Given the description of an element on the screen output the (x, y) to click on. 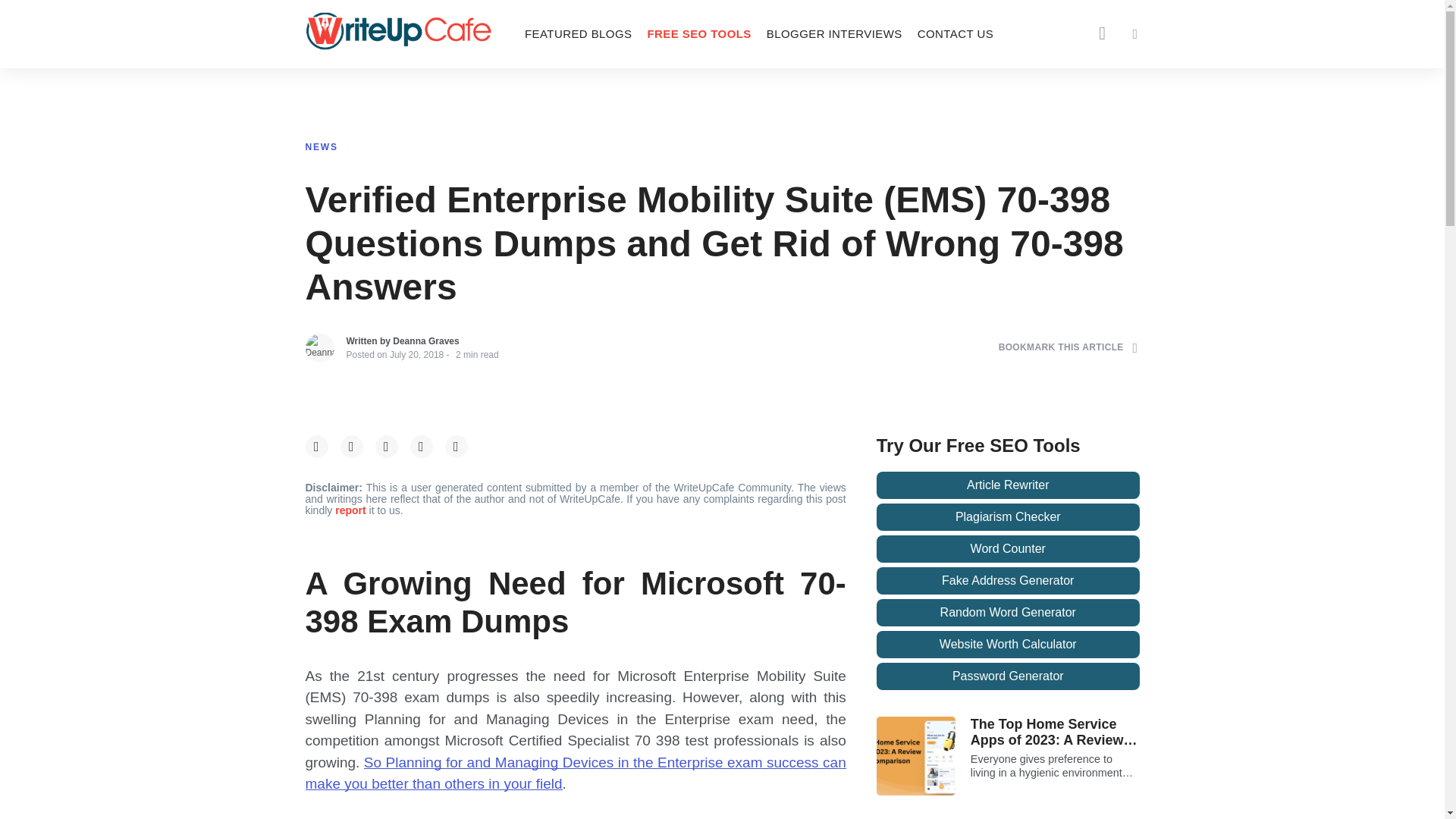
report (351, 510)
FEATURED BLOGS (577, 33)
Fake Address Generator (1008, 580)
CONTACT US (955, 33)
BLOGGER INTERVIEWS (834, 33)
Deanna Graves (425, 340)
FEATURED BLOGS (577, 33)
The Top Home Service Apps of 2023: A Review and Comparison (1055, 732)
Password Generator (1008, 676)
Random Word Generator (1008, 612)
